Given the description of an element on the screen output the (x, y) to click on. 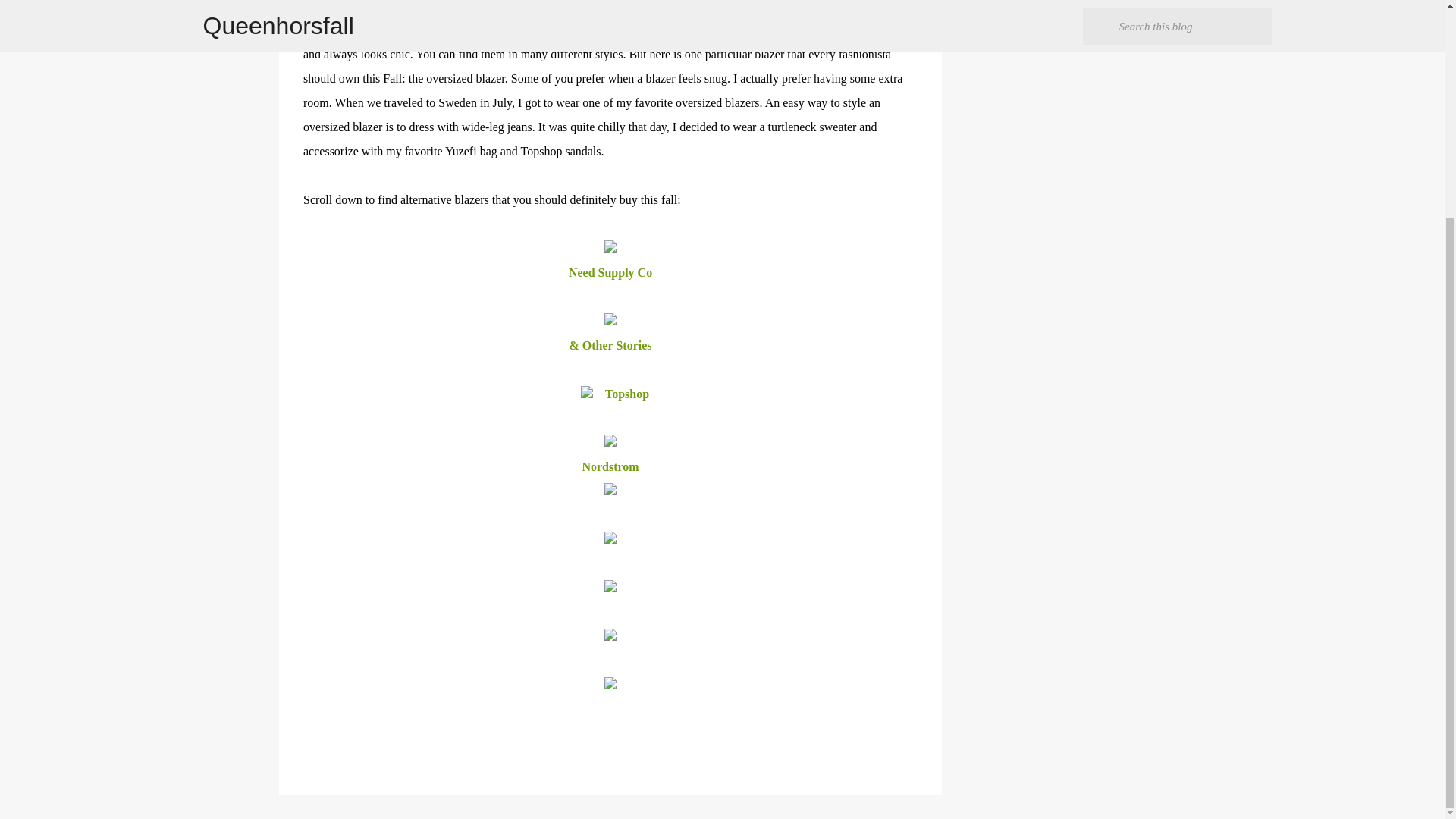
Nordstrom (609, 466)
Need Supply Co (610, 272)
Topshop  (628, 393)
